Given the description of an element on the screen output the (x, y) to click on. 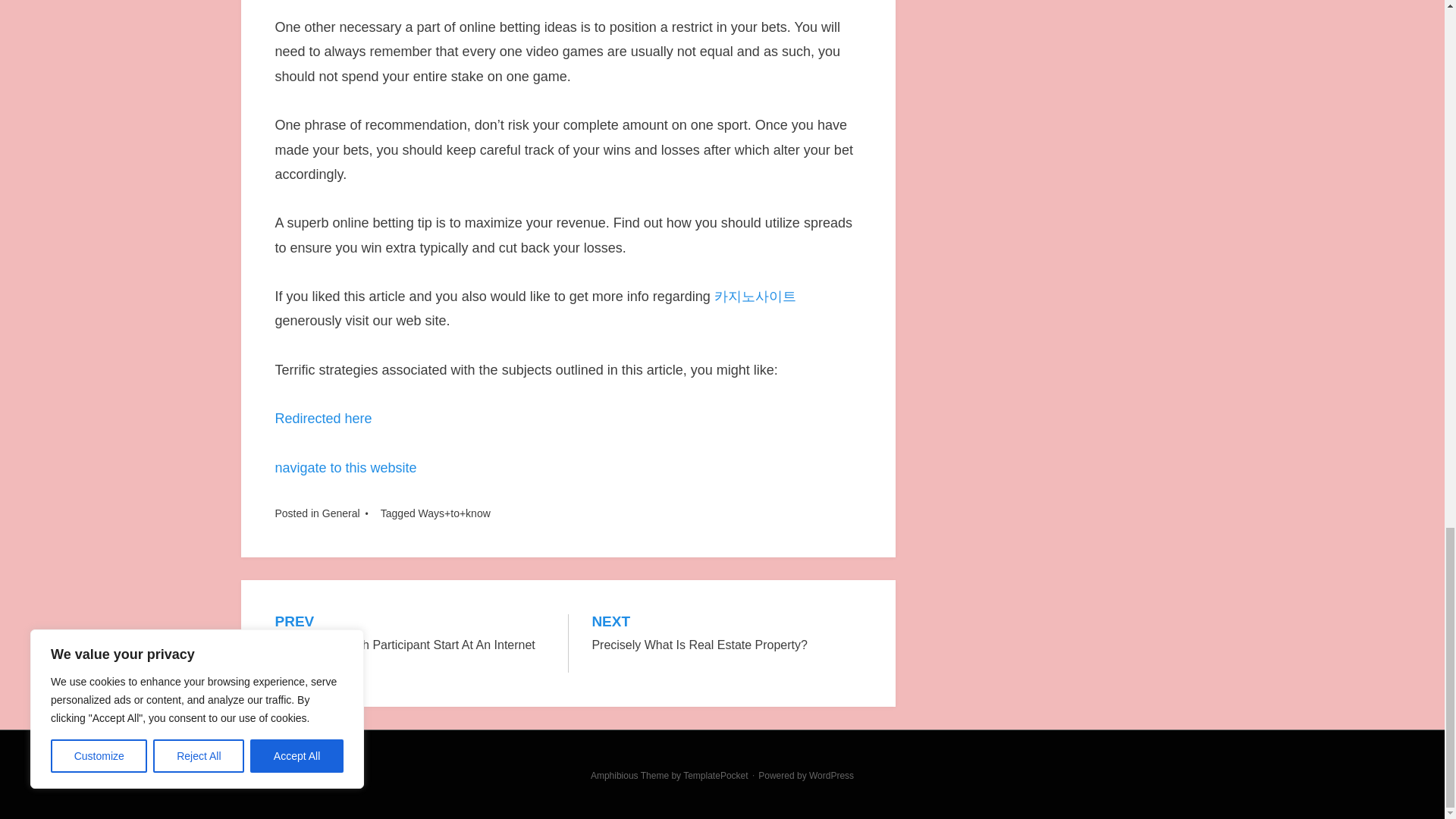
General (340, 512)
navigate to this website (345, 467)
Redirected here (323, 418)
TemplatePocket (715, 775)
WordPress (831, 775)
